Given the description of an element on the screen output the (x, y) to click on. 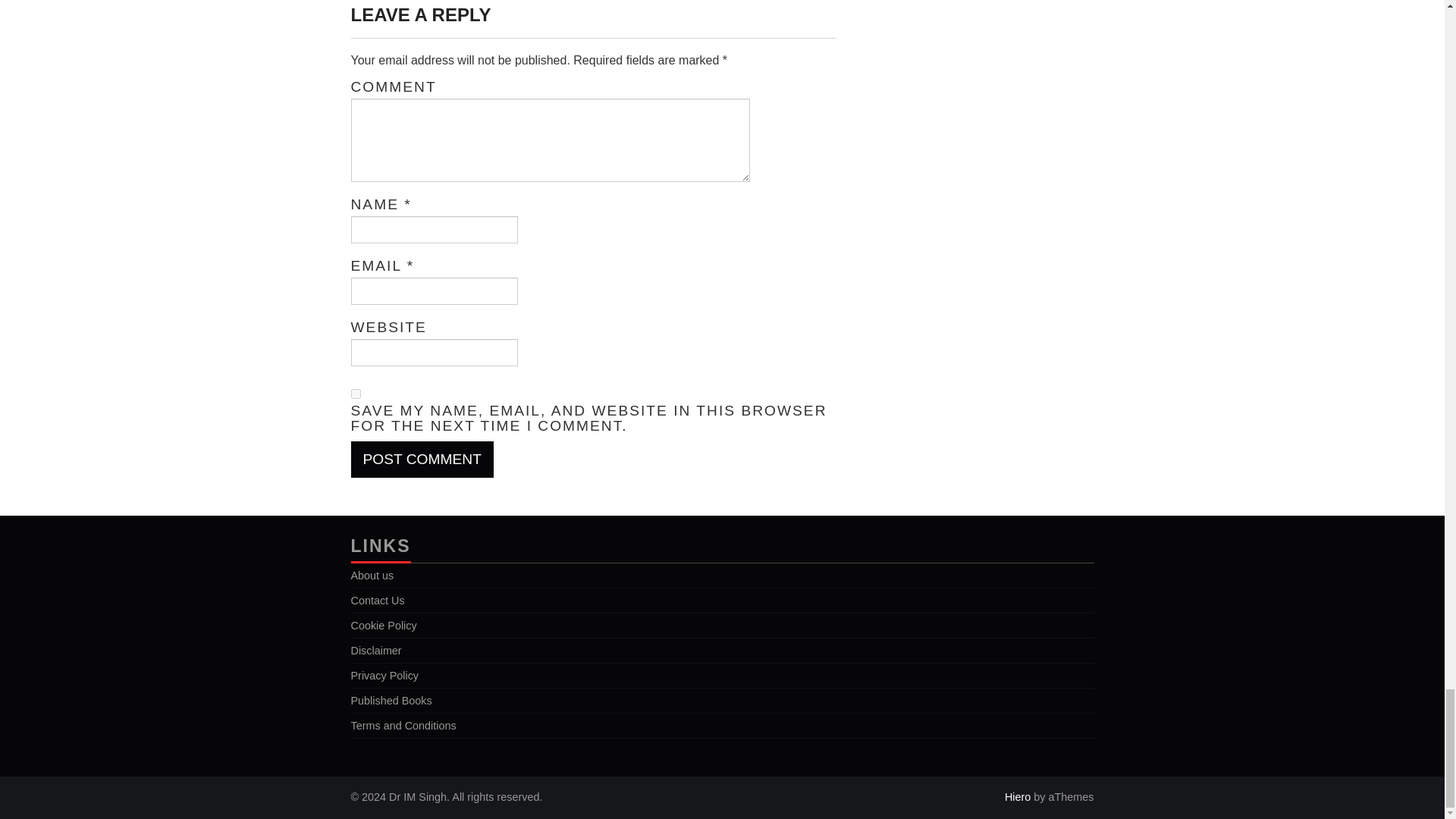
Post Comment (421, 459)
yes (354, 393)
Post Comment (421, 459)
